Given the description of an element on the screen output the (x, y) to click on. 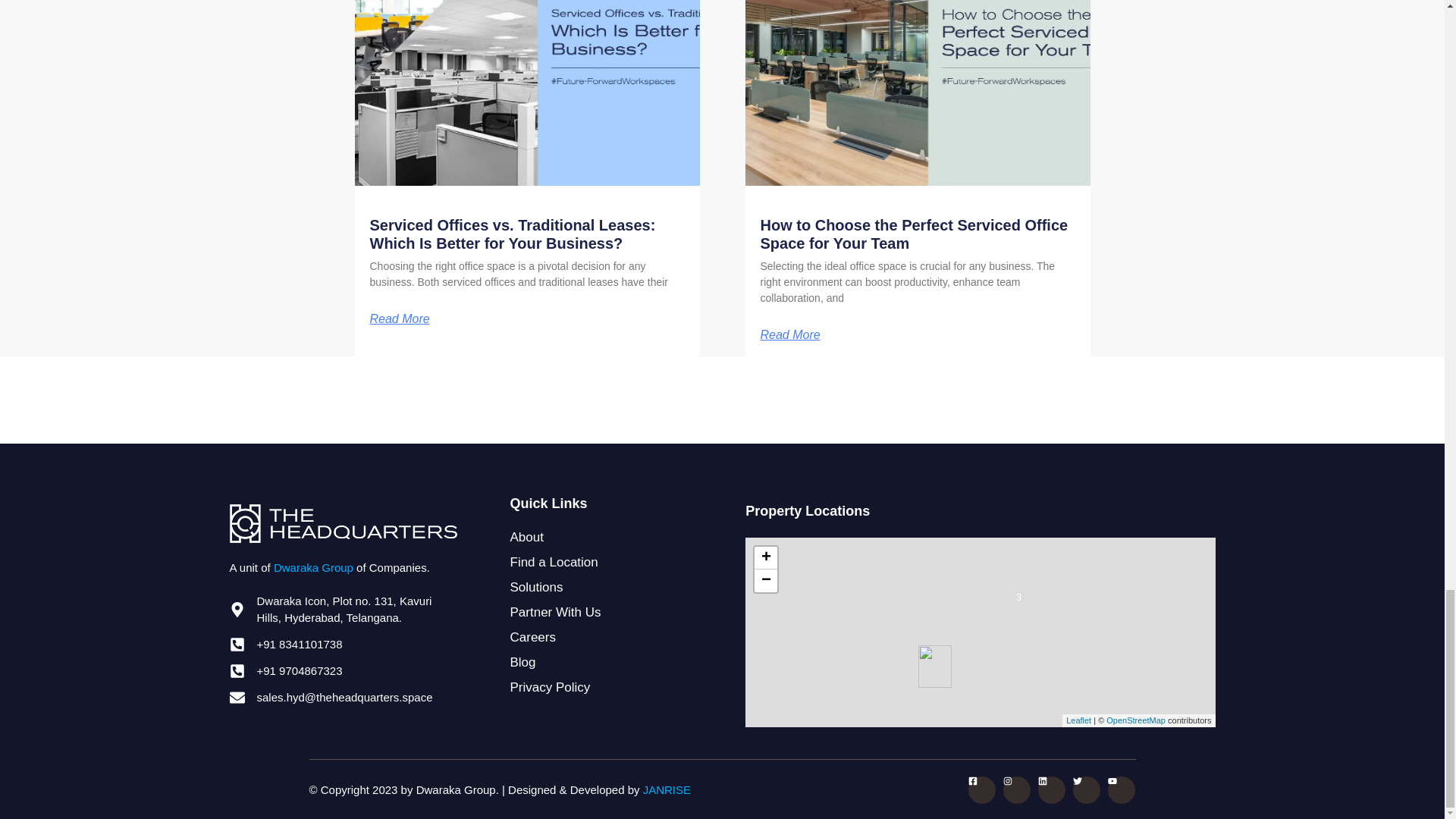
Read More (789, 335)
Zoom out (765, 580)
Read More (399, 318)
Zoom in (765, 558)
A JS library for interactive maps (1077, 719)
